Given the description of an element on the screen output the (x, y) to click on. 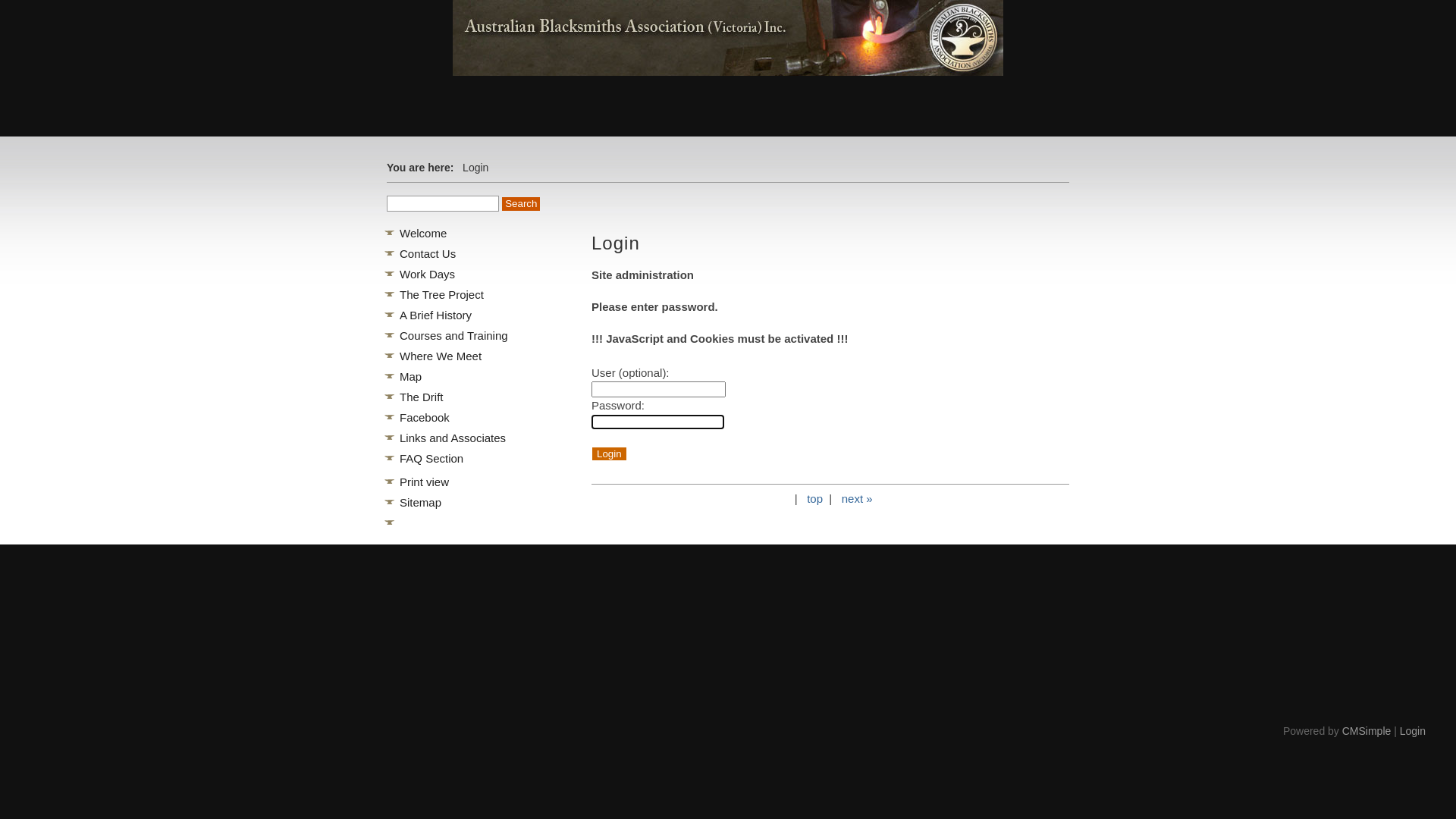
Courses and Training Element type: text (453, 335)
The Drift Element type: text (421, 396)
Sitemap Element type: text (420, 501)
Search Element type: text (520, 203)
Map Element type: text (410, 376)
Work Days Element type: text (427, 273)
Login Element type: text (1412, 730)
Links and Associates Element type: text (452, 437)
top Element type: text (814, 498)
Welcome Element type: text (422, 232)
Where We Meet Element type: text (440, 355)
Print view Element type: text (423, 481)
A Brief History Element type: text (435, 314)
FAQ Section Element type: text (431, 457)
Contact Us Element type: text (427, 253)
Facebook Element type: text (424, 417)
Login Element type: text (609, 453)
The Tree Project Element type: text (441, 294)
CMSimple Element type: text (1366, 730)
